Given the description of an element on the screen output the (x, y) to click on. 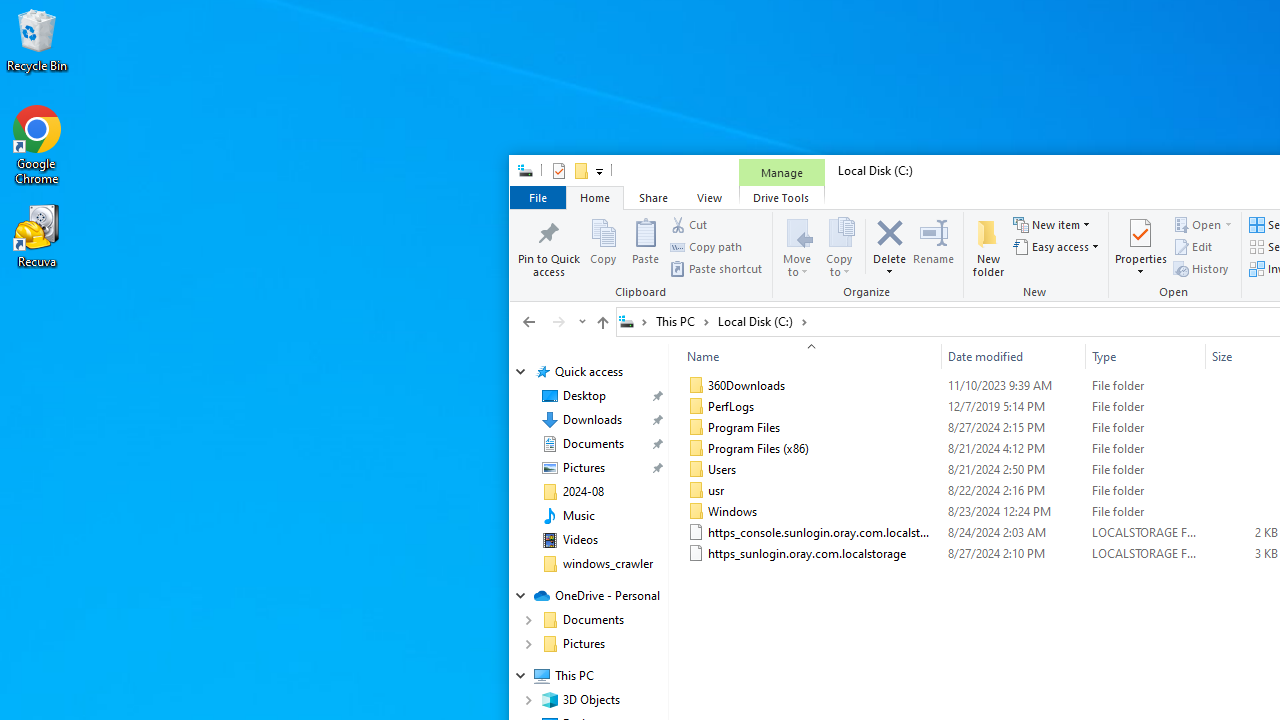
Documents (pinned) (592, 443)
Edit (1192, 246)
Copy path (706, 246)
Videos (580, 539)
Copy to (840, 246)
Desktop (pinned) (584, 395)
Manage (781, 172)
Music (578, 515)
2024-08 (582, 491)
Home (594, 196)
Open (1176, 255)
Properties (558, 169)
This PC (682, 321)
Properties (1141, 265)
Easy access (1055, 246)
